Given the description of an element on the screen output the (x, y) to click on. 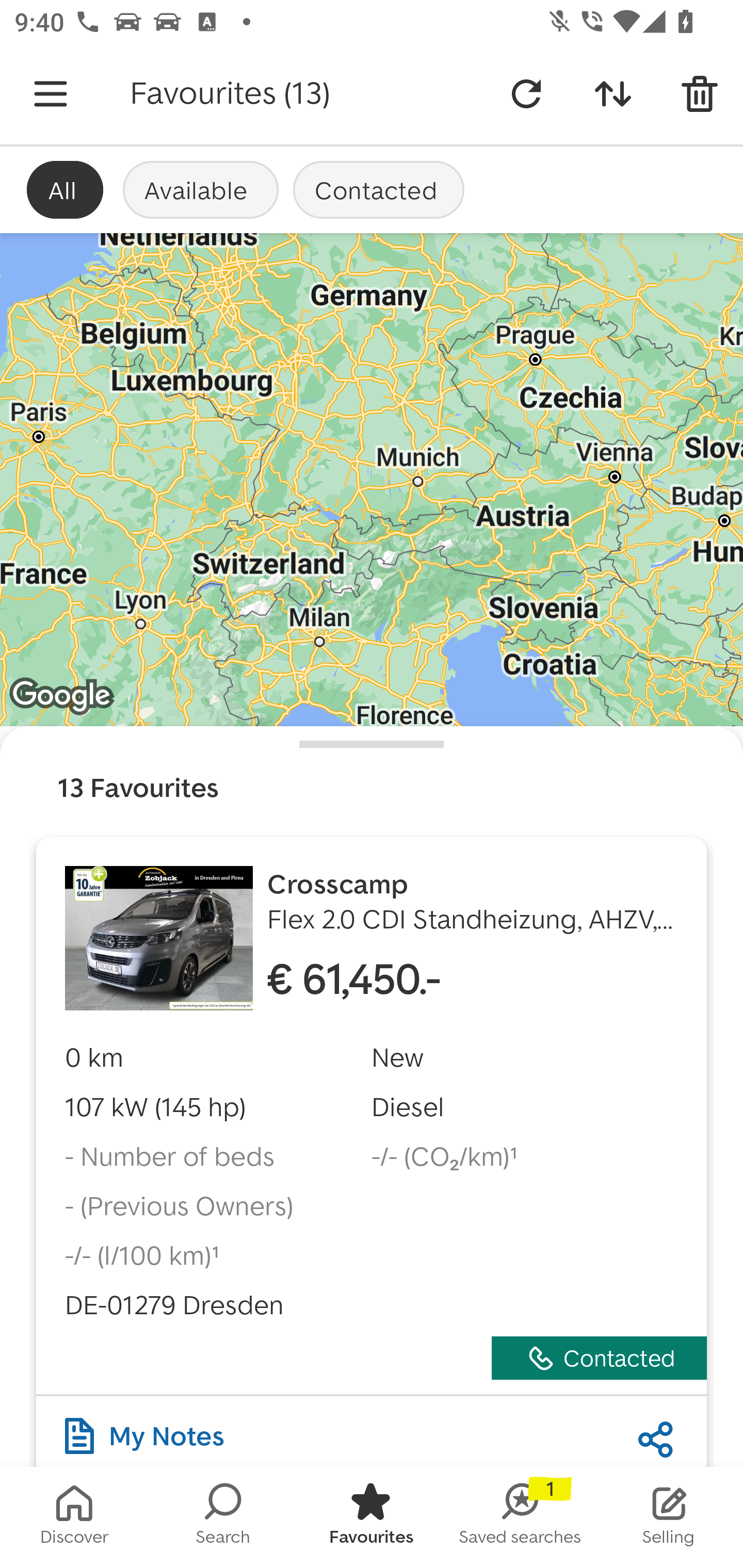
Navigate up (50, 93)
Sort (612, 93)
Delete vehicles (699, 93)
All (64, 189)
Available (200, 189)
Contacted (378, 189)
Google Map (371, 479)
My Notes (144, 1431)
HOMESCREEN Discover (74, 1517)
SEARCH Search (222, 1517)
FAVORITES Favourites (371, 1517)
SAVED_SEARCHES Saved searches 1 (519, 1517)
STOCK_LIST Selling (668, 1517)
